Given the description of an element on the screen output the (x, y) to click on. 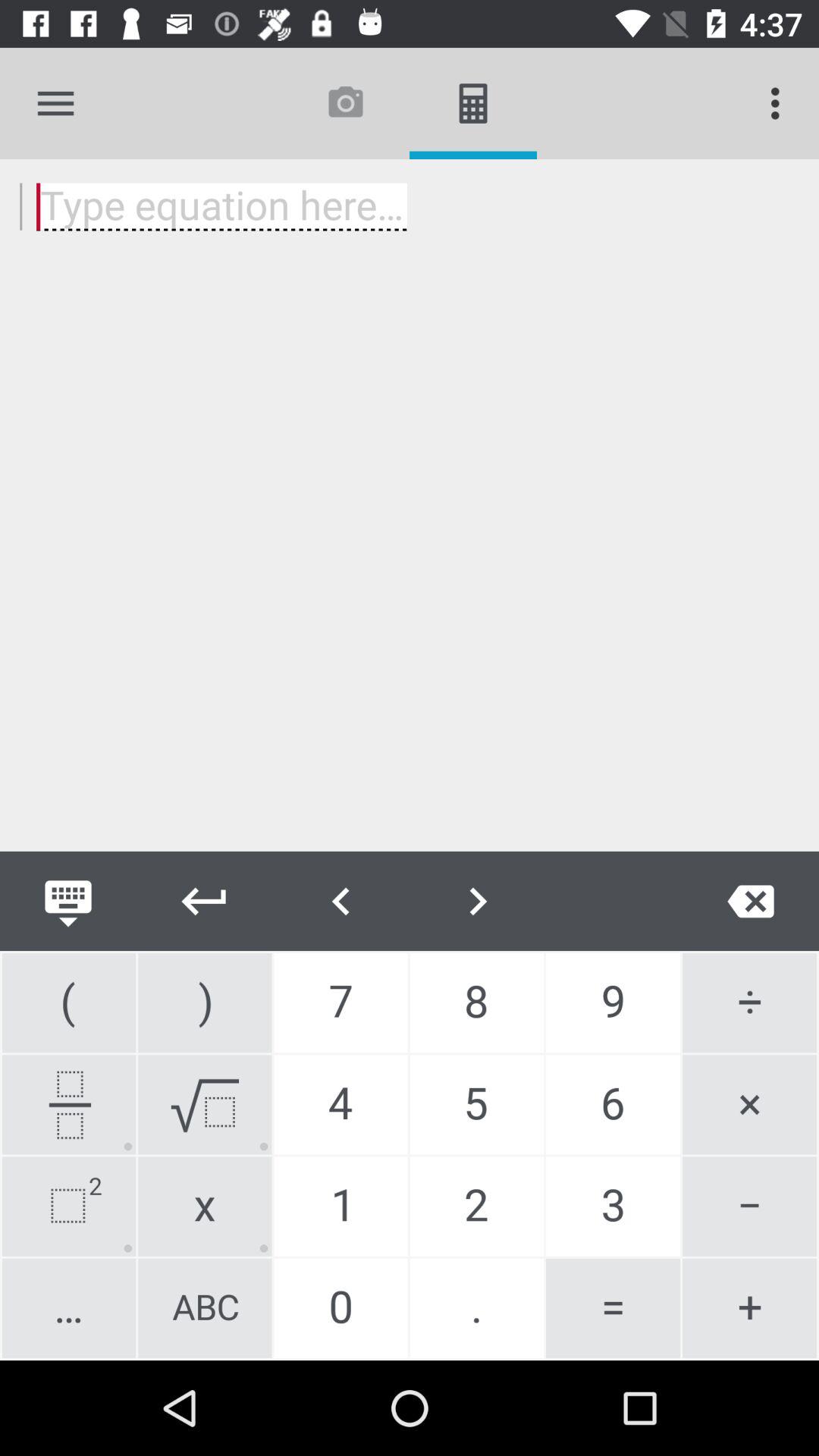
menu dropdown (55, 103)
